Given the description of an element on the screen output the (x, y) to click on. 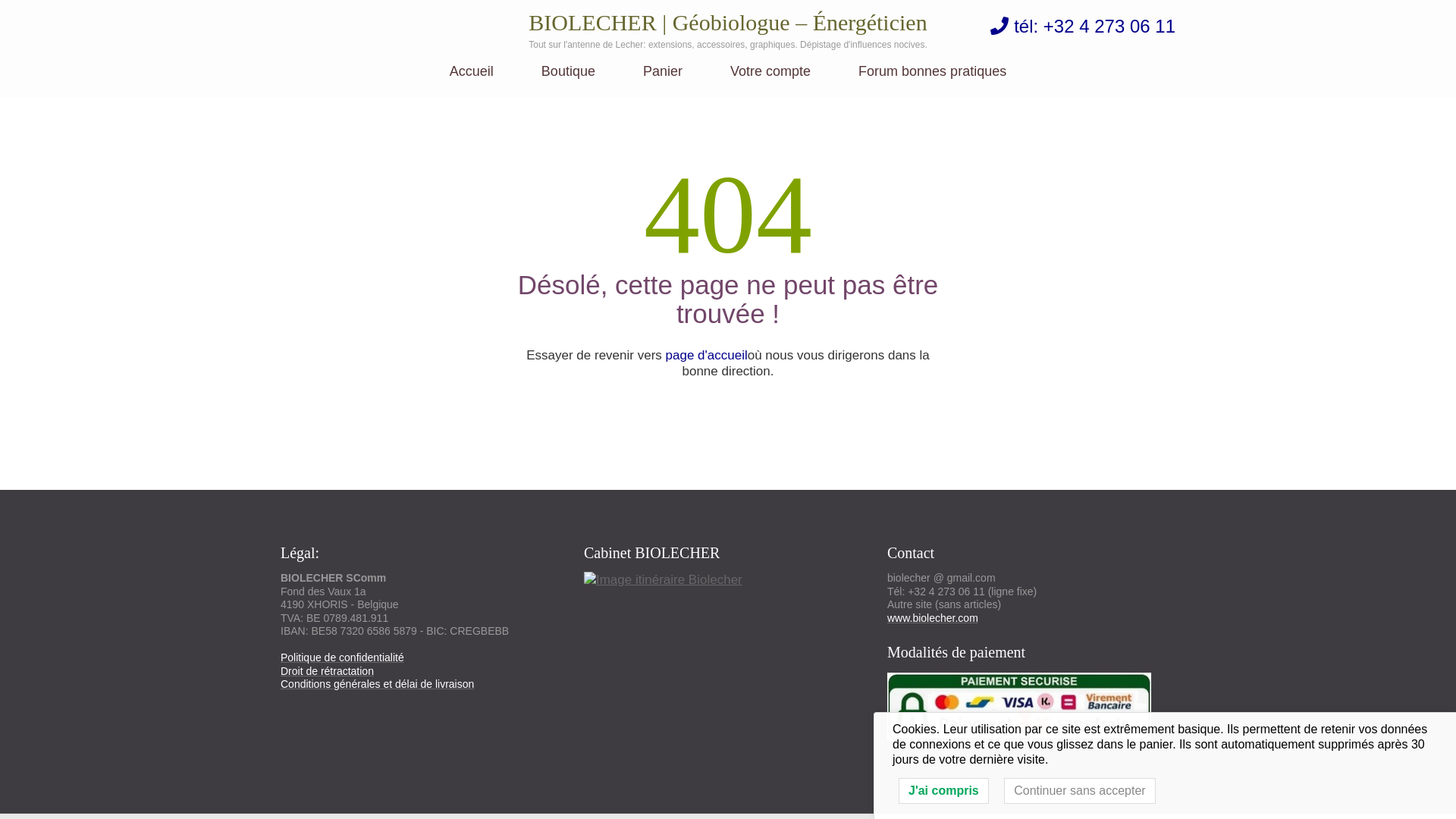
www.biolecher.com Element type: text (932, 617)
Votre compte Element type: text (770, 80)
Boutique Element type: text (568, 80)
page d'accueil Element type: text (706, 355)
Panier Element type: text (662, 80)
Forum bonnes pratiques Element type: text (932, 80)
Accueil Element type: text (471, 80)
